Given the description of an element on the screen output the (x, y) to click on. 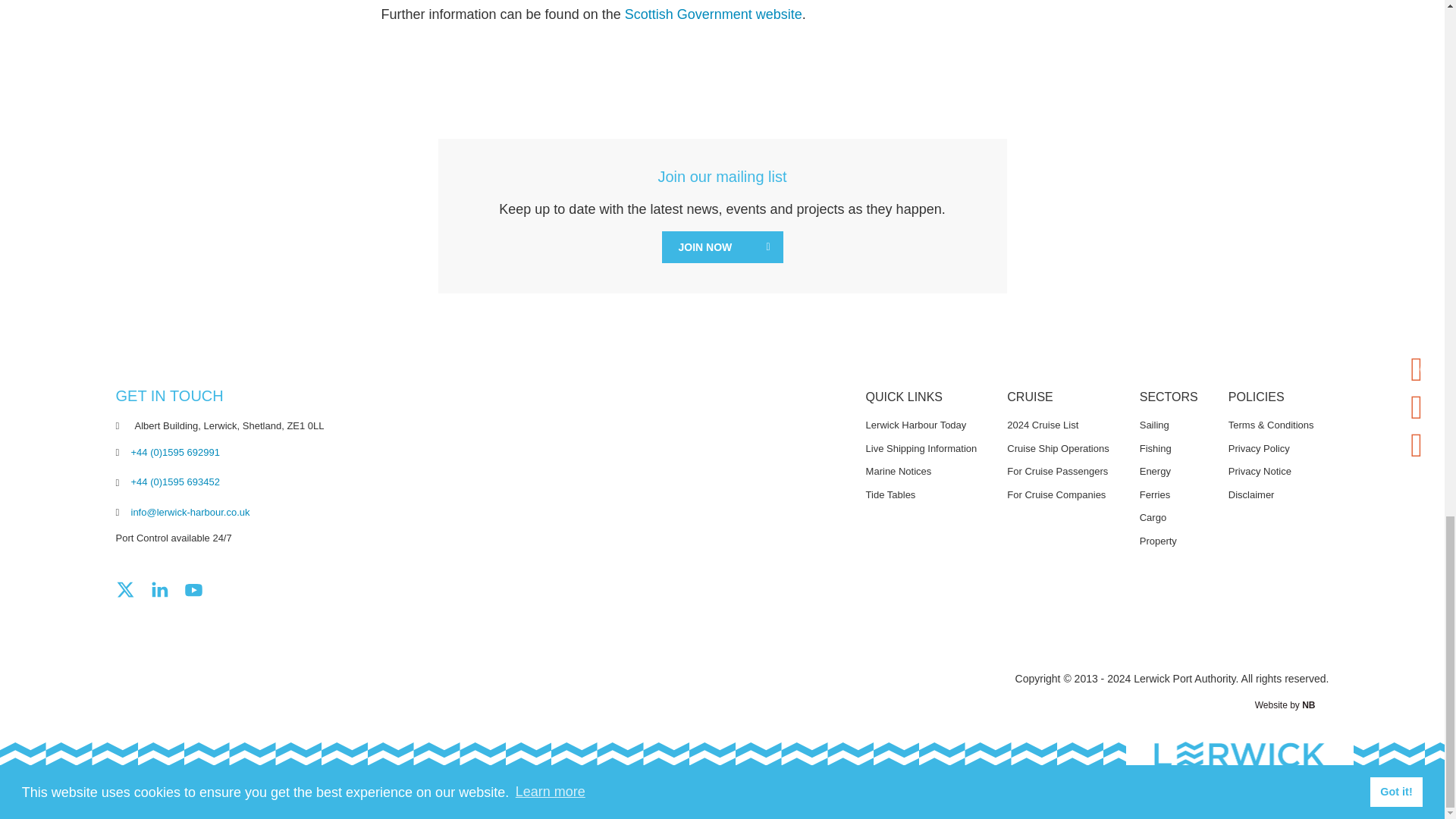
NB Communication - Digital Marketing Agency (1314, 704)
